Given the description of an element on the screen output the (x, y) to click on. 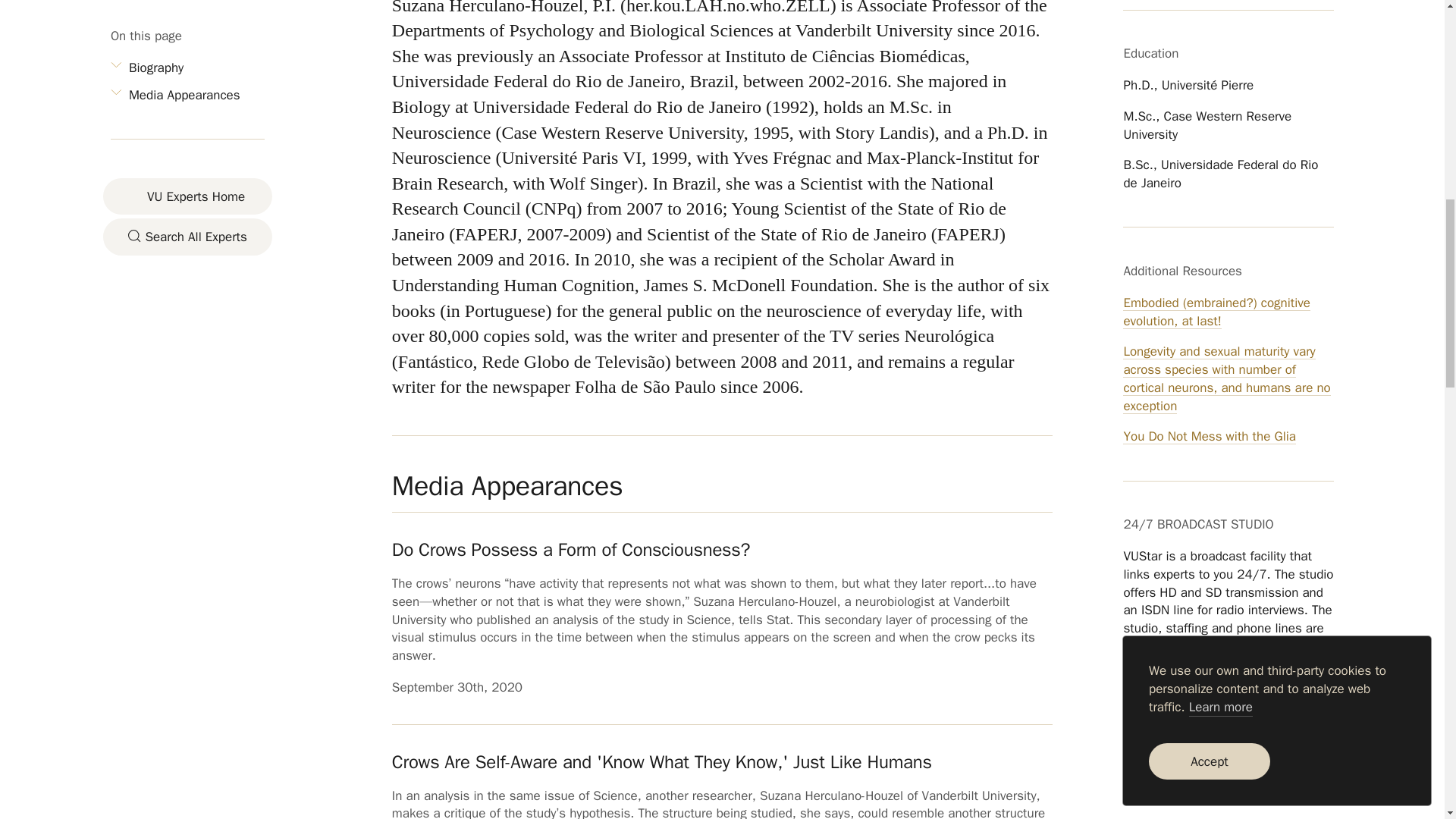
Search All Experts (187, 114)
VU Experts Home (187, 74)
Do Crows Possess a Form of Consciousness? (570, 549)
